Given the description of an element on the screen output the (x, y) to click on. 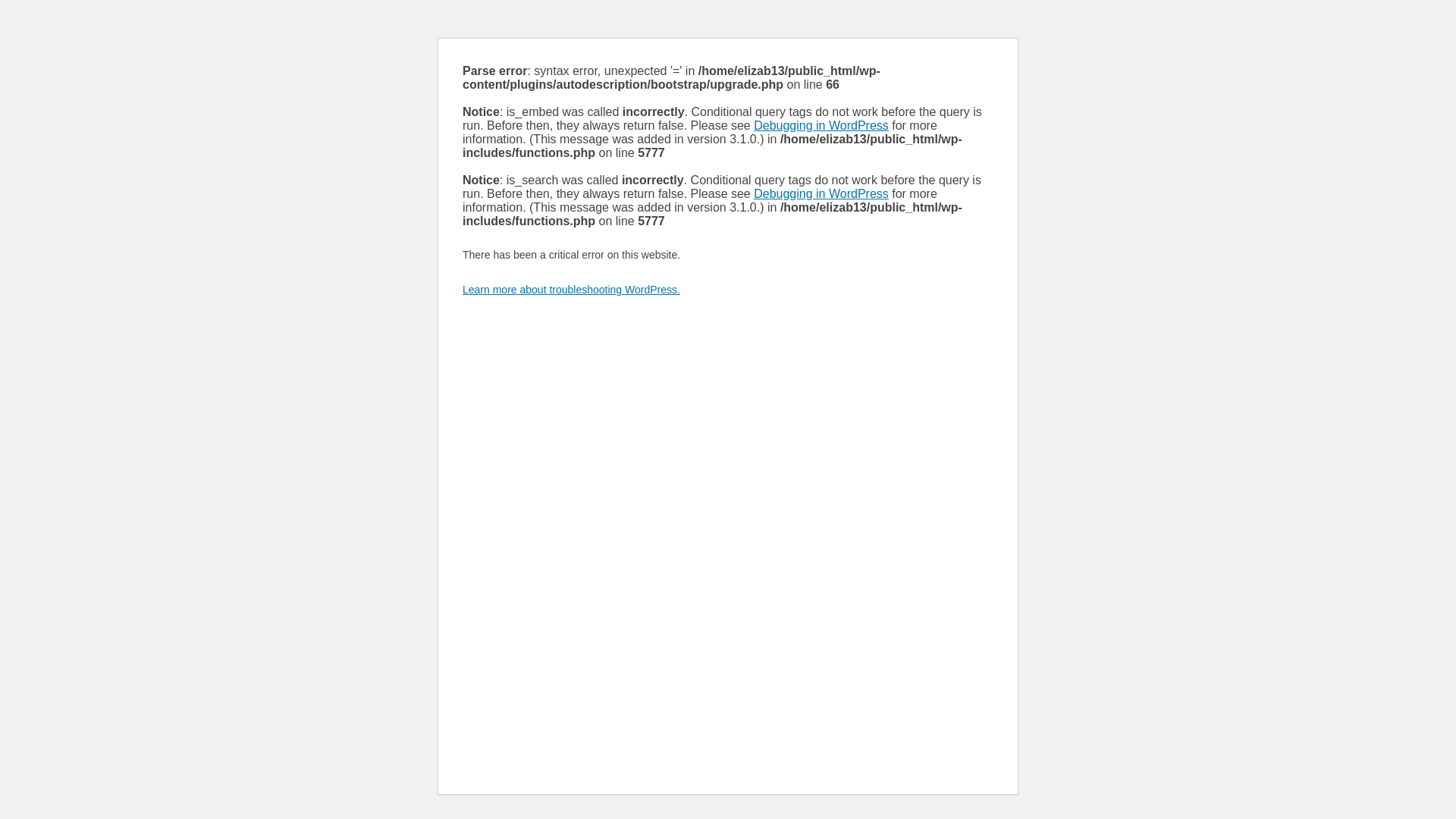
Debugging in WordPress Element type: text (820, 193)
Debugging in WordPress Element type: text (820, 125)
Learn more about troubleshooting WordPress. Element type: text (571, 289)
